Given the description of an element on the screen output the (x, y) to click on. 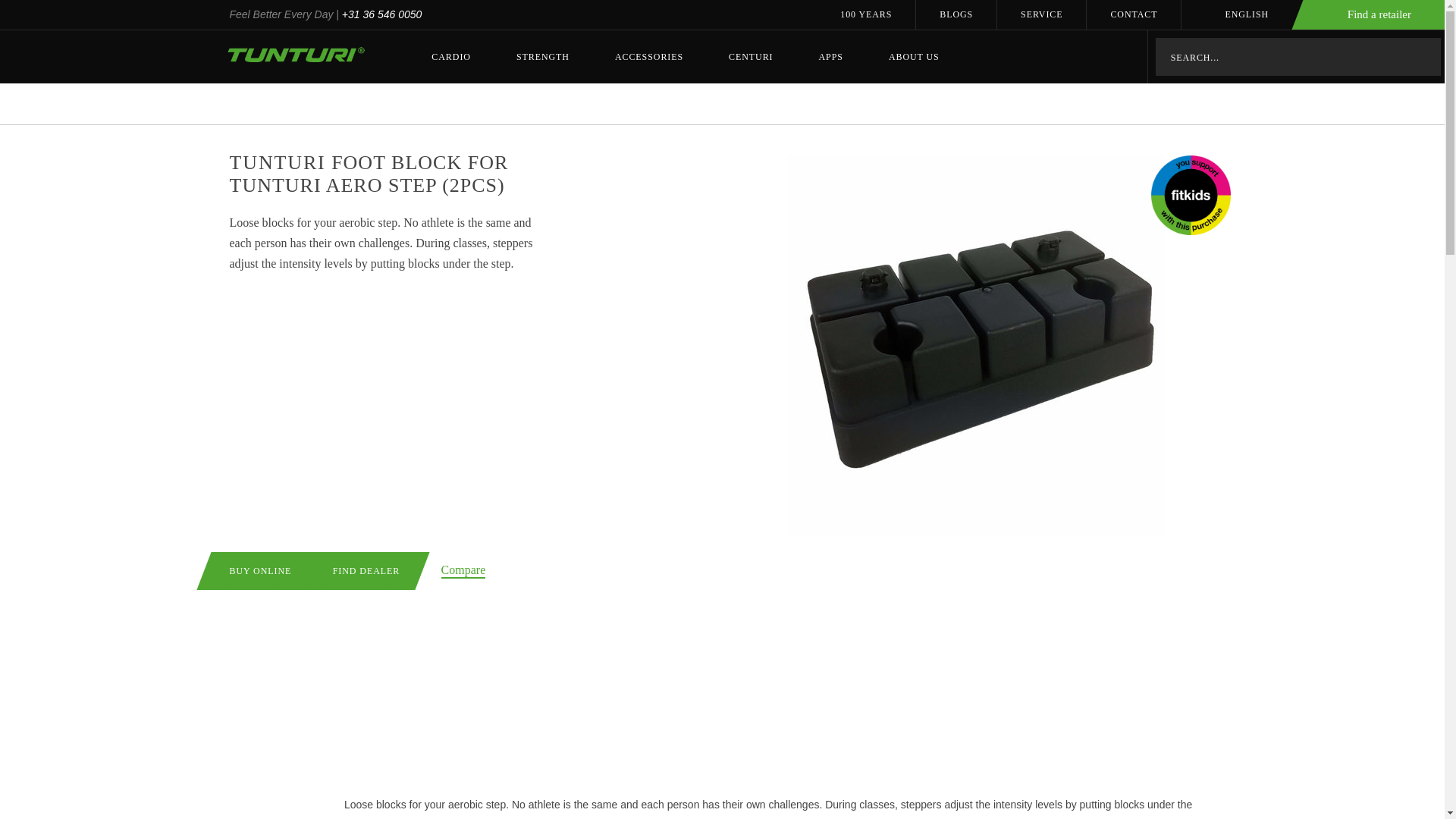
ENGLISH (1236, 14)
Blogs (956, 14)
100 YEARS (865, 14)
Service (1041, 14)
ACCESSORIES (648, 56)
SERVICE (1041, 14)
BLOGS (956, 14)
STRENGTH (542, 56)
100 years (865, 14)
CONTACT (1133, 14)
